Given the description of an element on the screen output the (x, y) to click on. 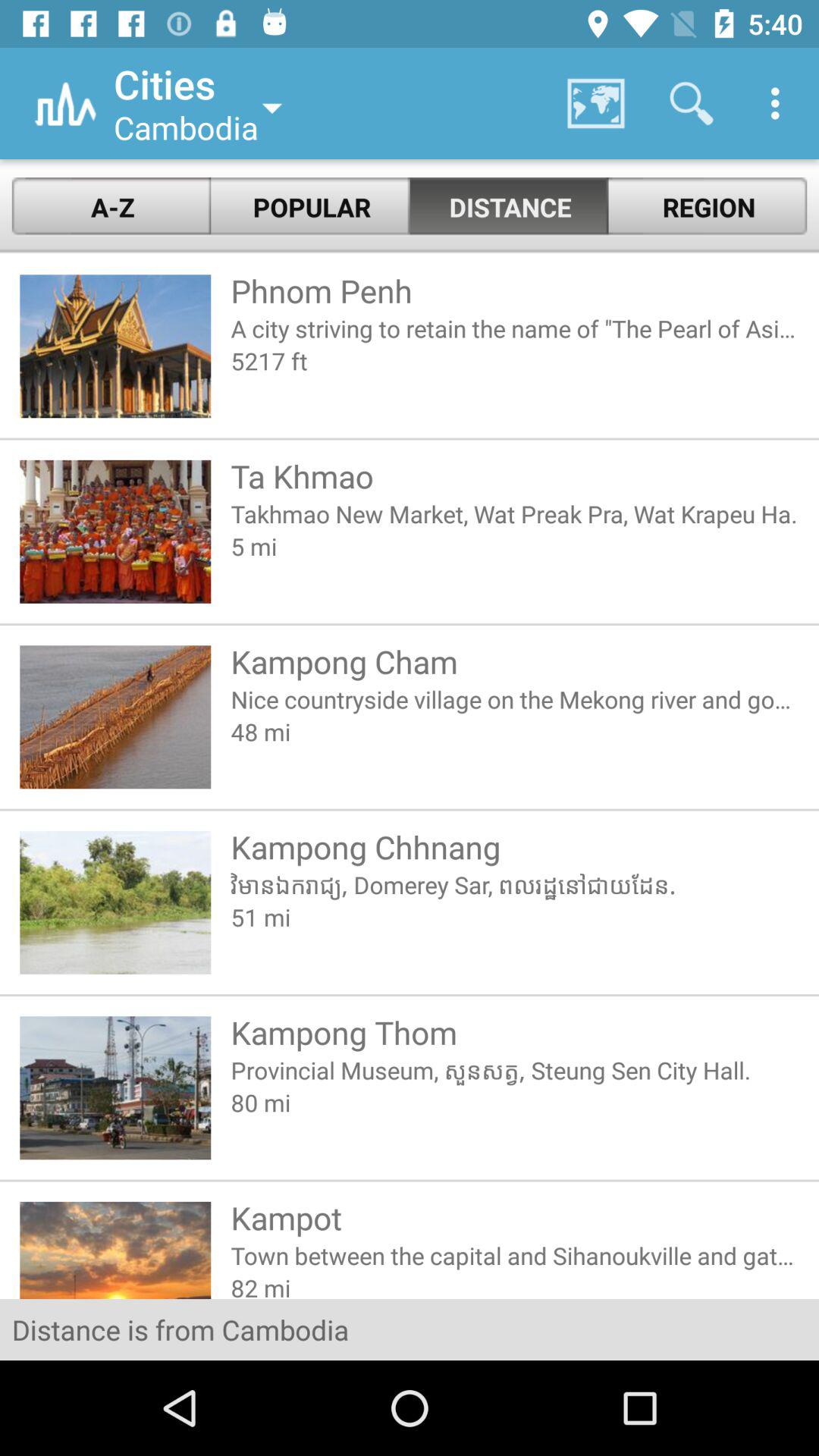
choose the region icon (707, 206)
